Given the description of an element on the screen output the (x, y) to click on. 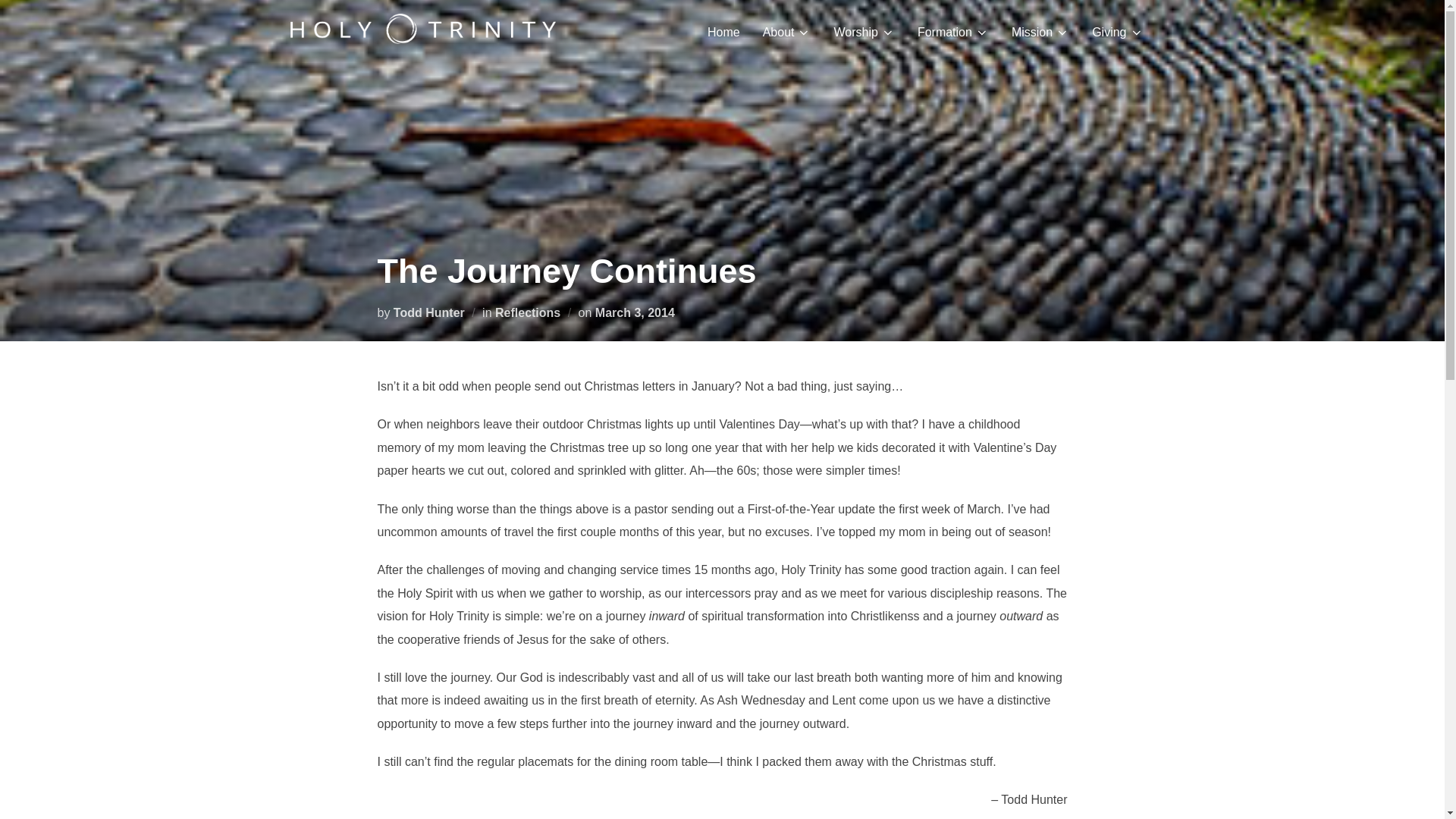
Formation (952, 32)
About (786, 32)
Worship (862, 32)
Home (723, 32)
